Given the description of an element on the screen output the (x, y) to click on. 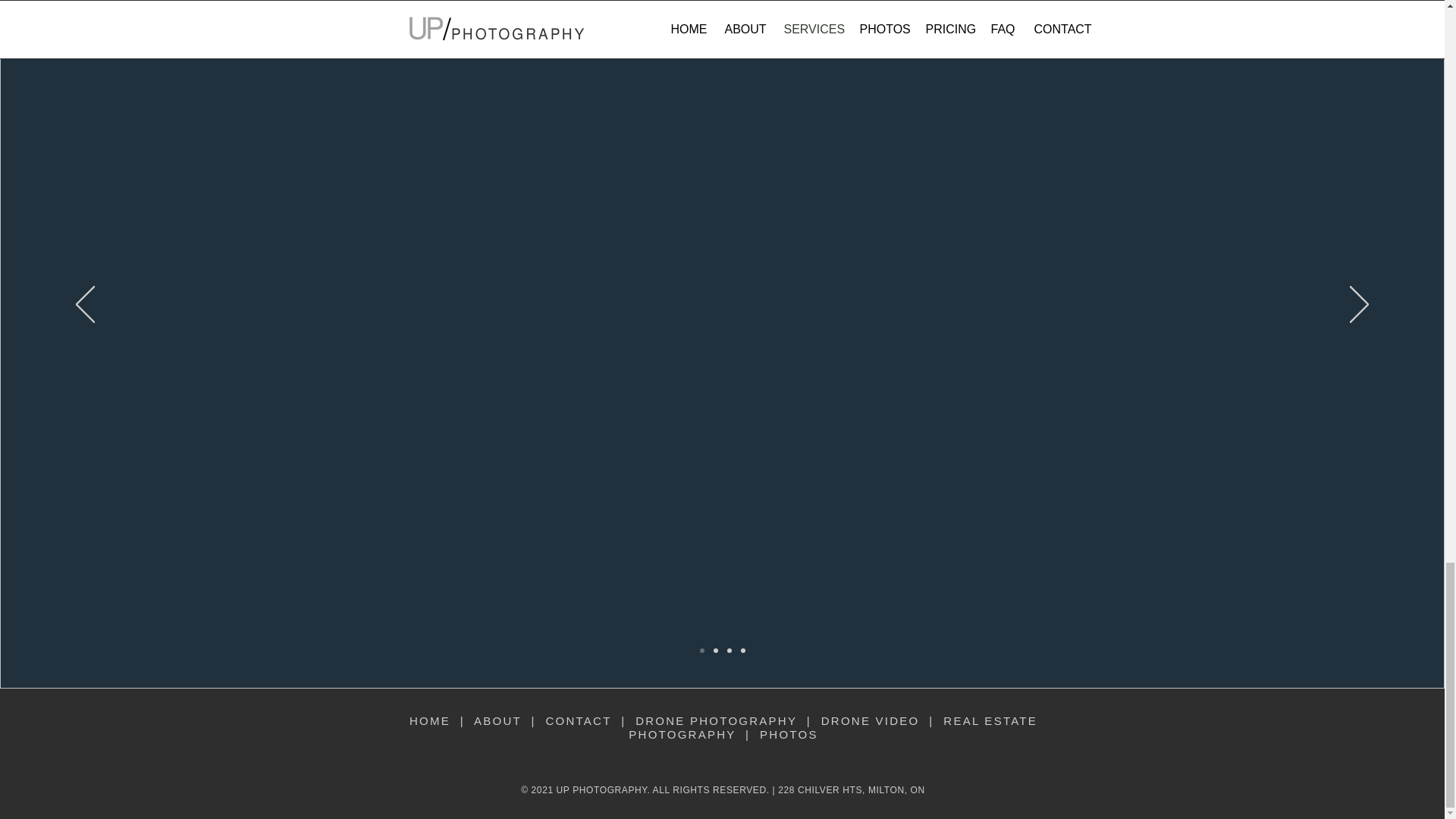
PHOTOS (789, 734)
ABOUT (497, 720)
HOME (429, 720)
CONTACT (577, 720)
REAL ESTATE PHOTOGRAPHY (832, 727)
DRONE PHOTOGRAPHY (715, 720)
DRONE VIDEO (870, 720)
